Given the description of an element on the screen output the (x, y) to click on. 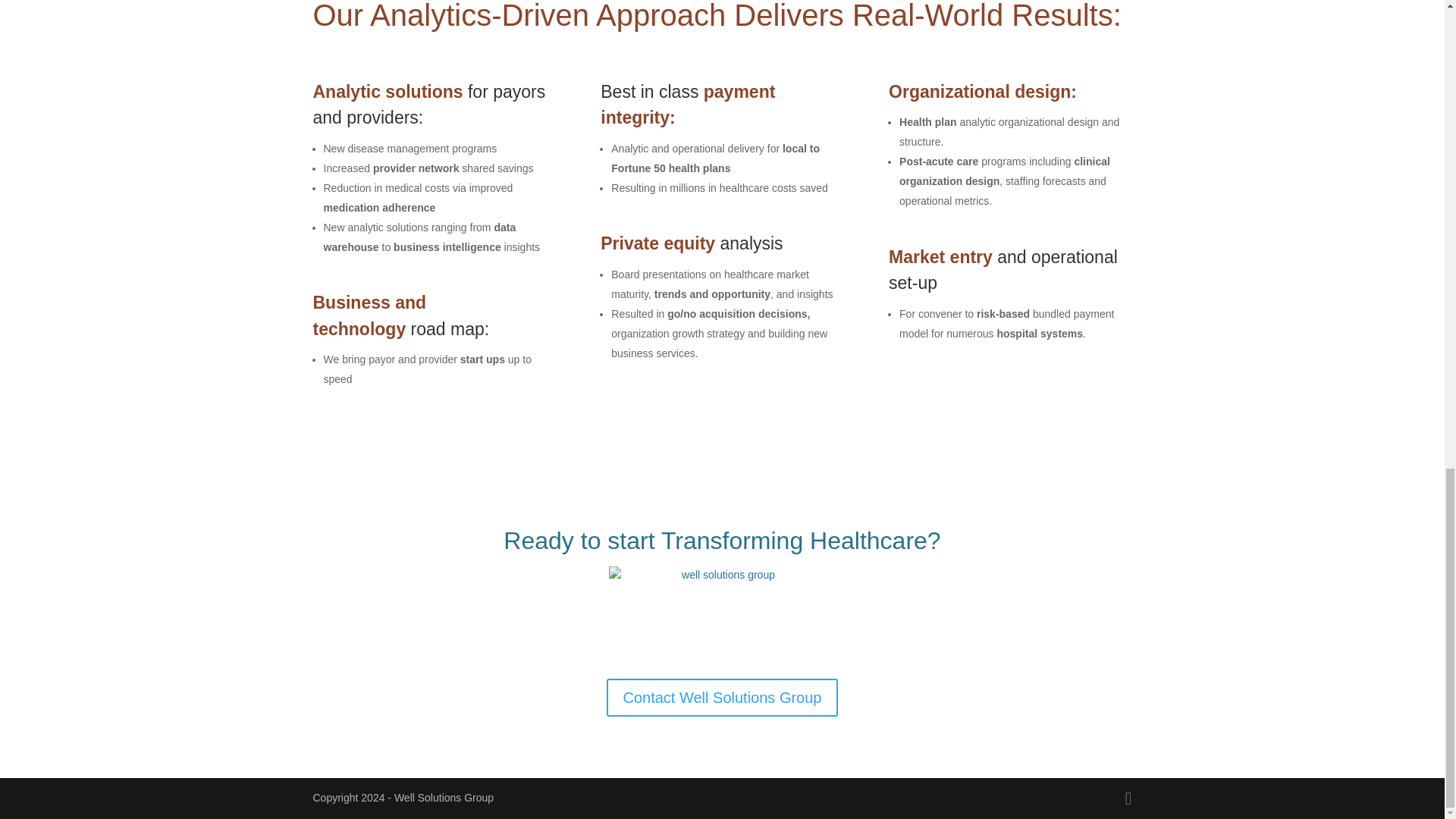
Contact Well Solutions Group (722, 697)
